Given the description of an element on the screen output the (x, y) to click on. 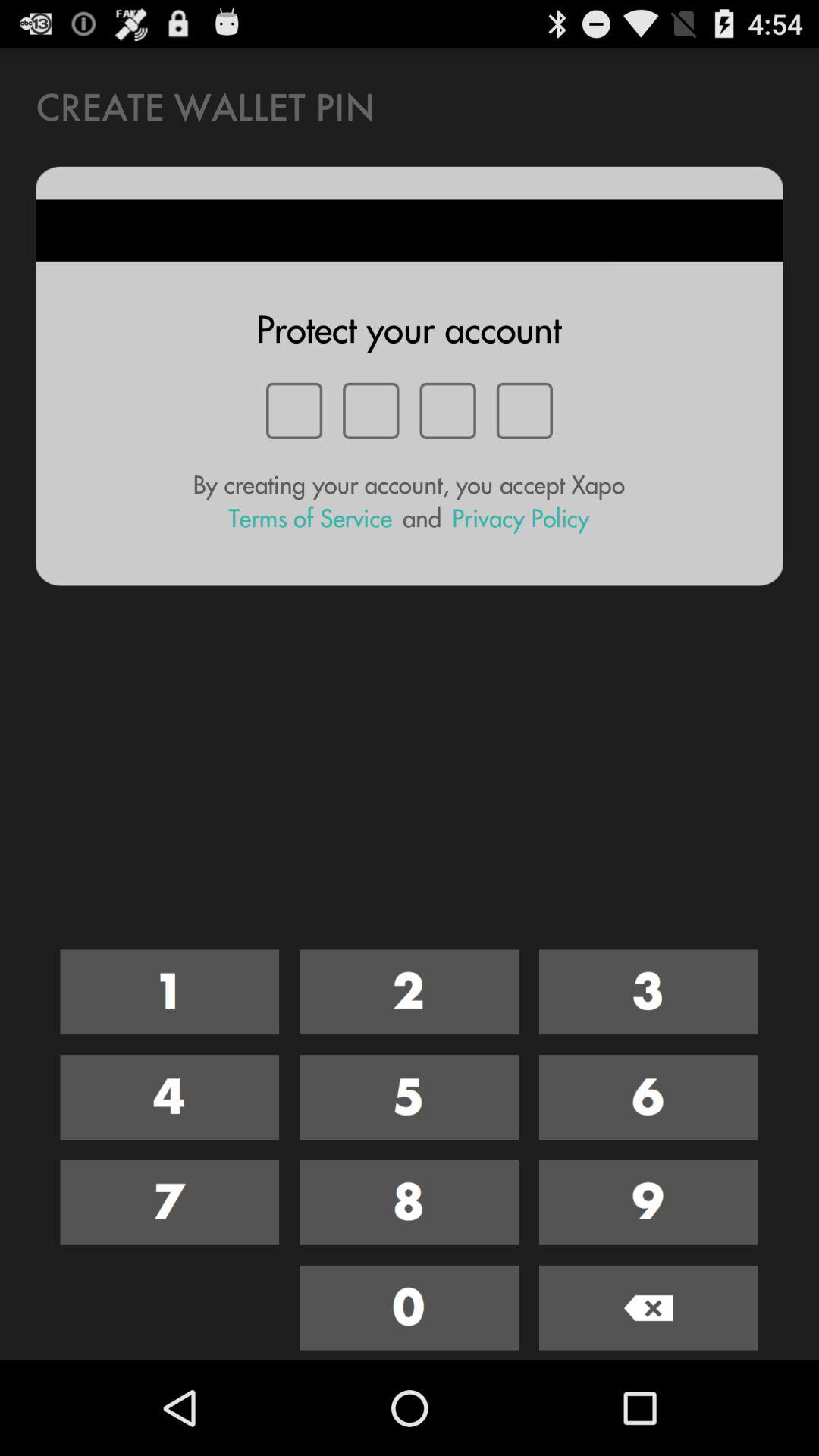
delete password (648, 1307)
